Given the description of an element on the screen output the (x, y) to click on. 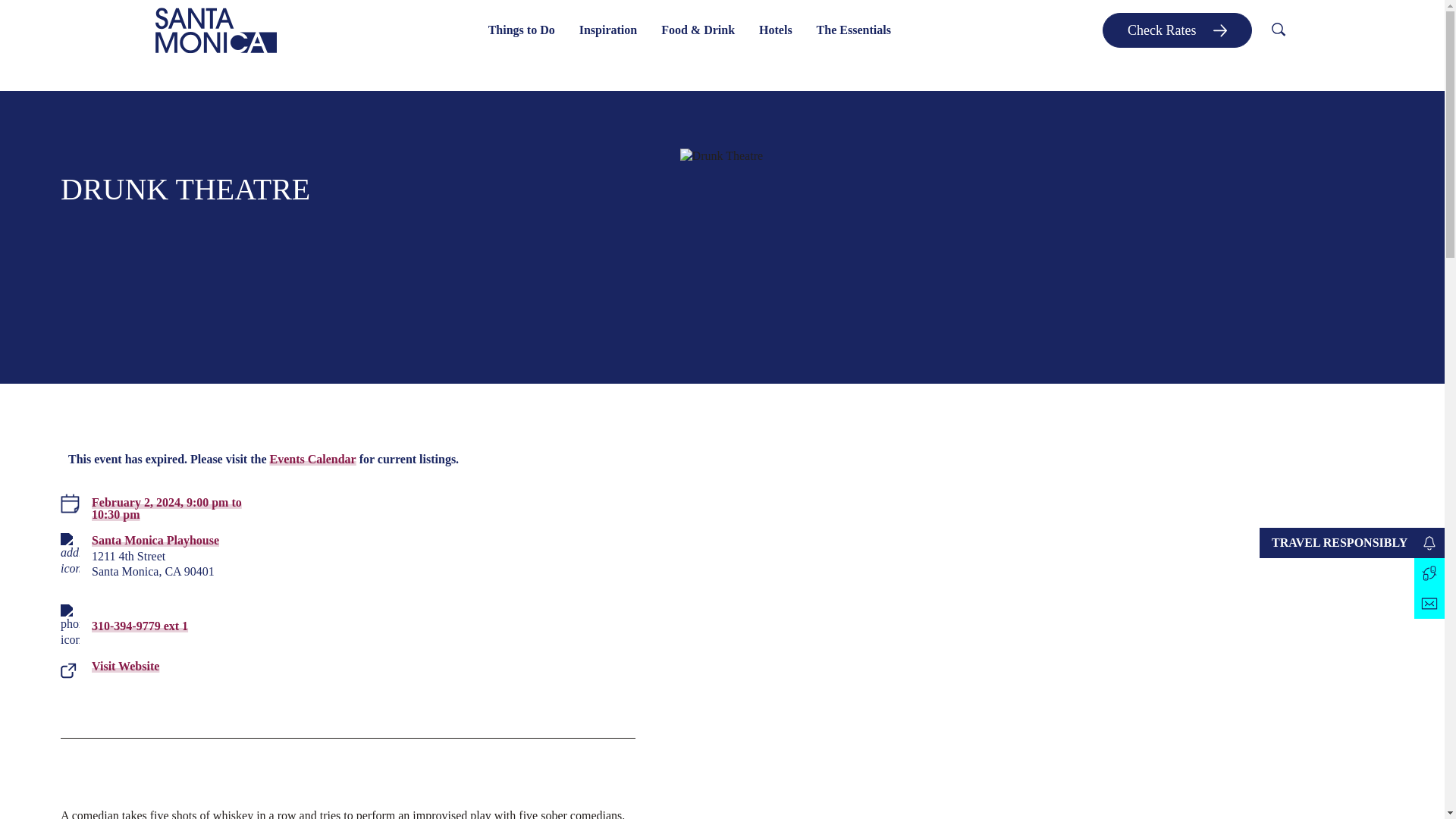
Things to Do (521, 29)
Inspiration (608, 29)
